Given the description of an element on the screen output the (x, y) to click on. 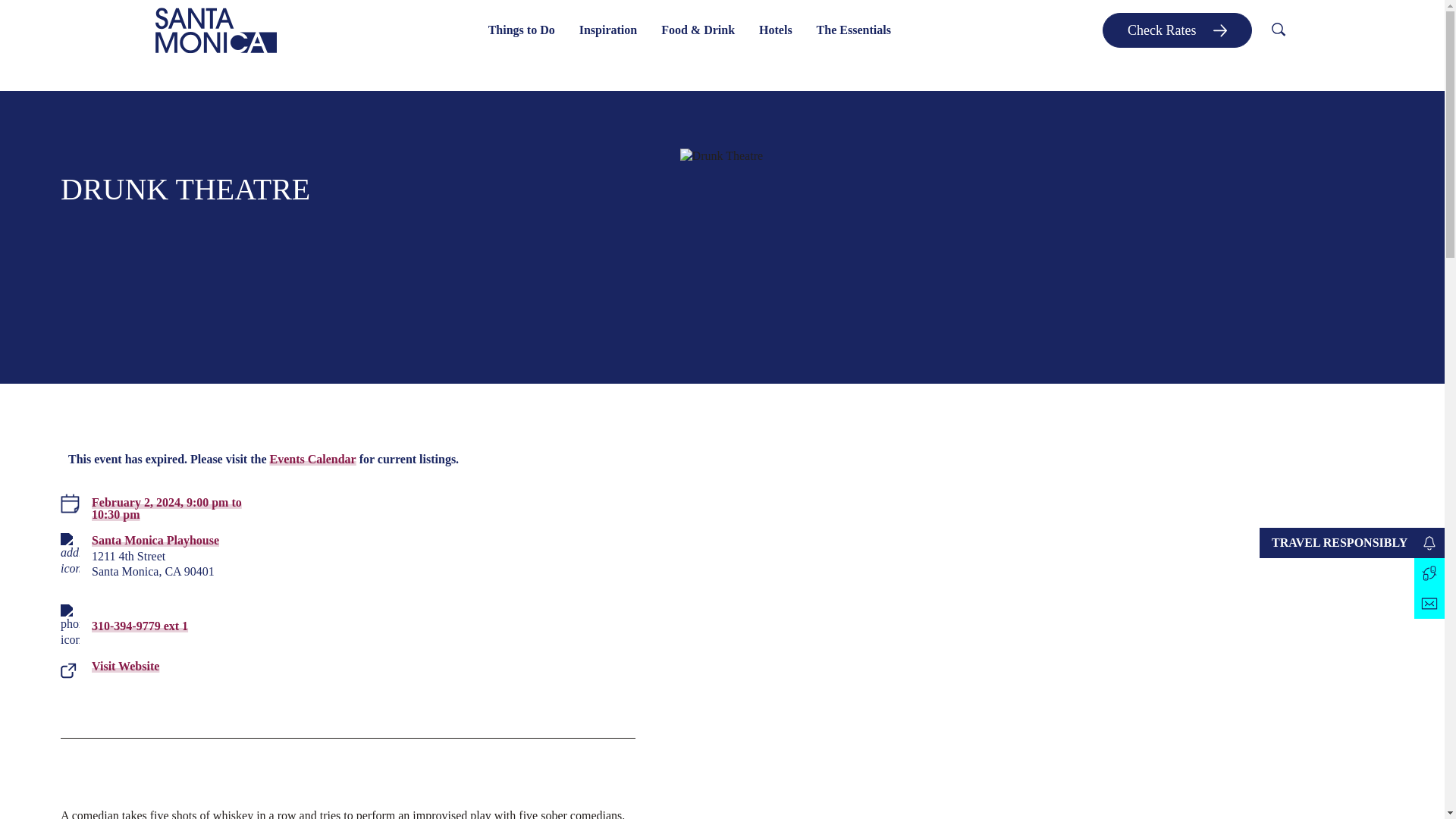
Things to Do (521, 29)
Inspiration (608, 29)
